Given the description of an element on the screen output the (x, y) to click on. 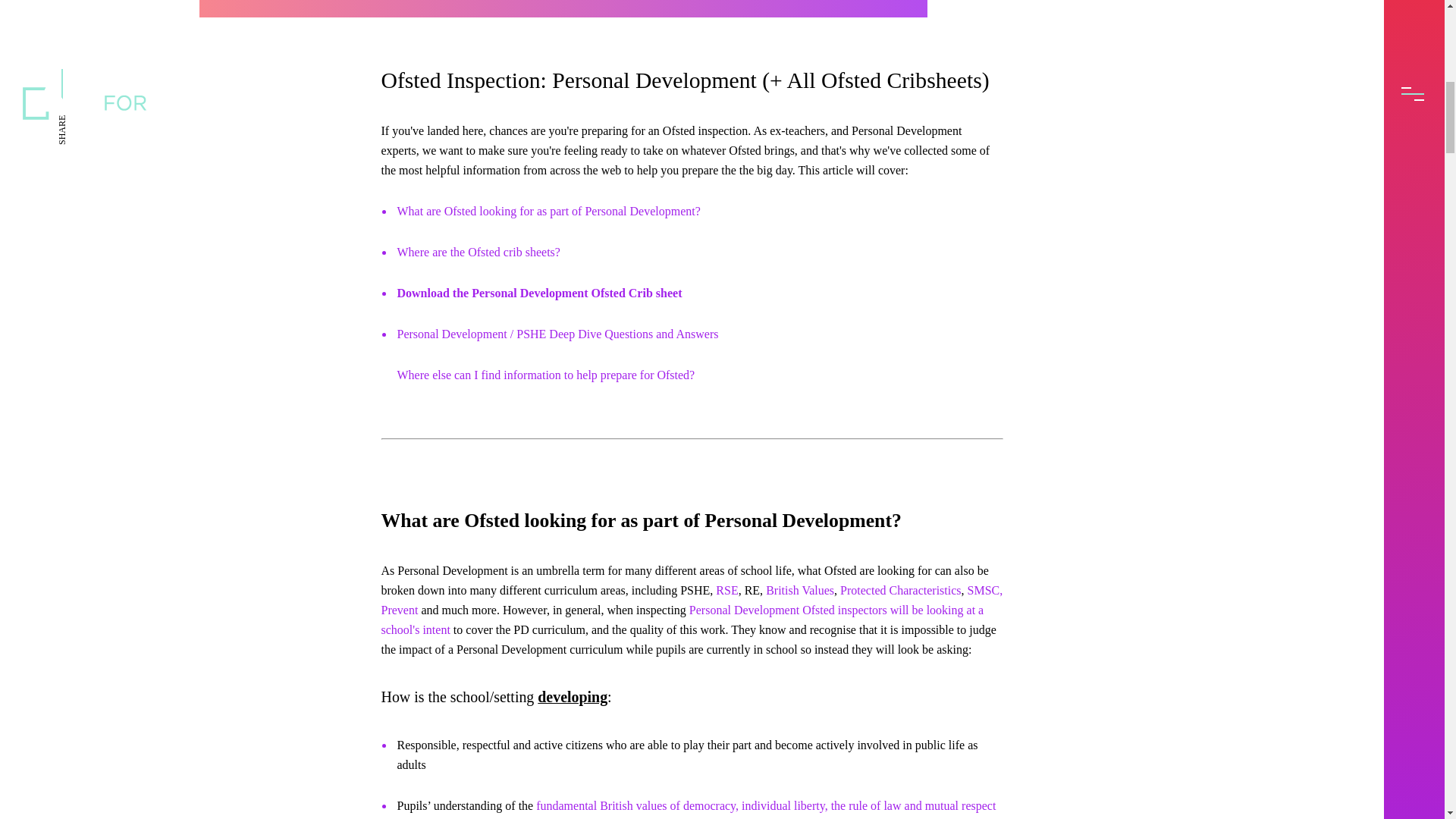
Prevent (398, 609)
RSE (727, 590)
Protected Characteristics (900, 590)
Where are the Ofsted crib sheets? (478, 251)
Download the Personal Development Ofsted Crib sheet (539, 292)
British Values (799, 590)
What are Ofsted looking for as part of Personal Development? (548, 210)
SMSC, (985, 590)
